Given the description of an element on the screen output the (x, y) to click on. 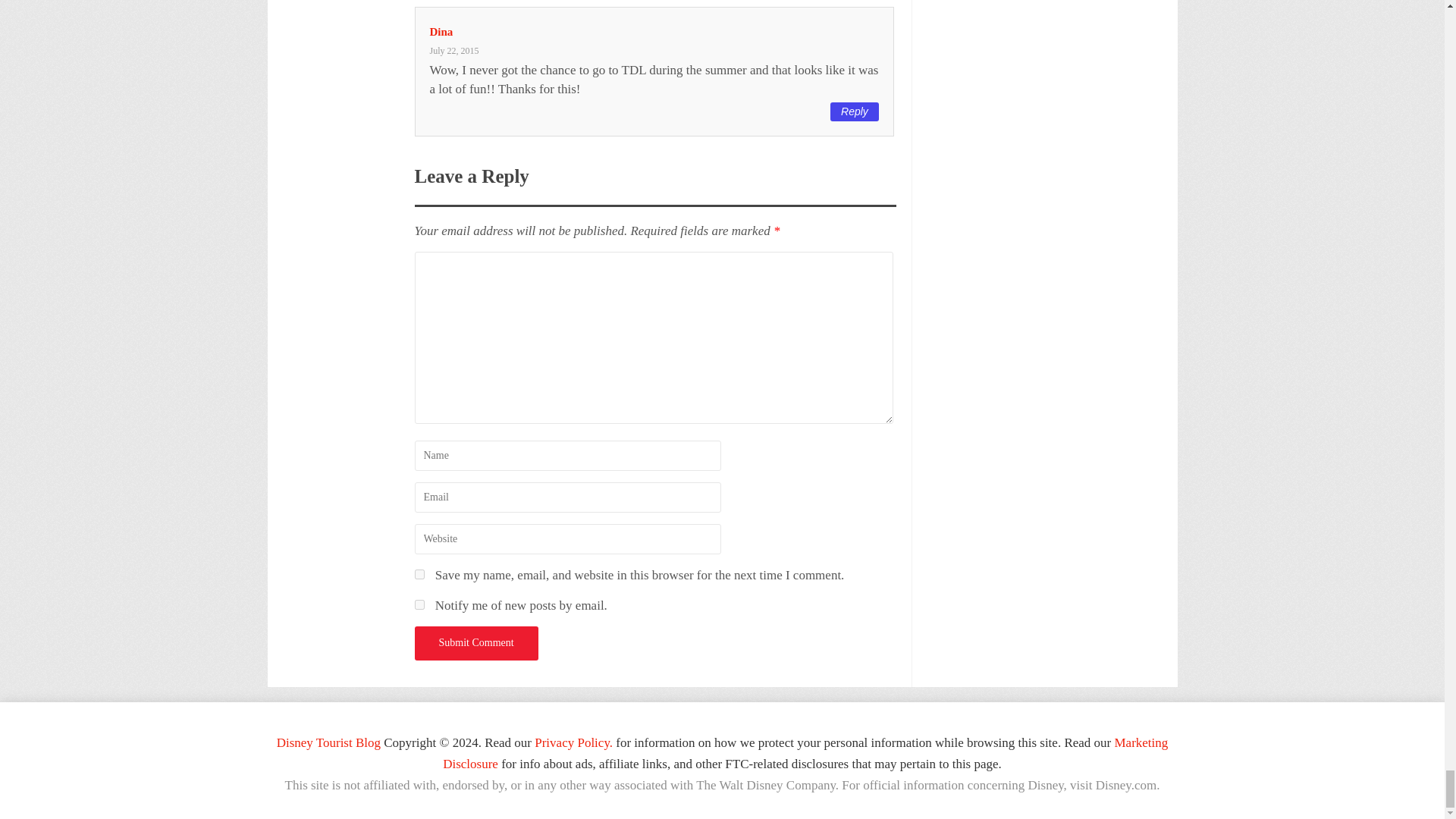
subscribe (418, 604)
yes (418, 574)
Submit Comment (475, 643)
